Given the description of an element on the screen output the (x, y) to click on. 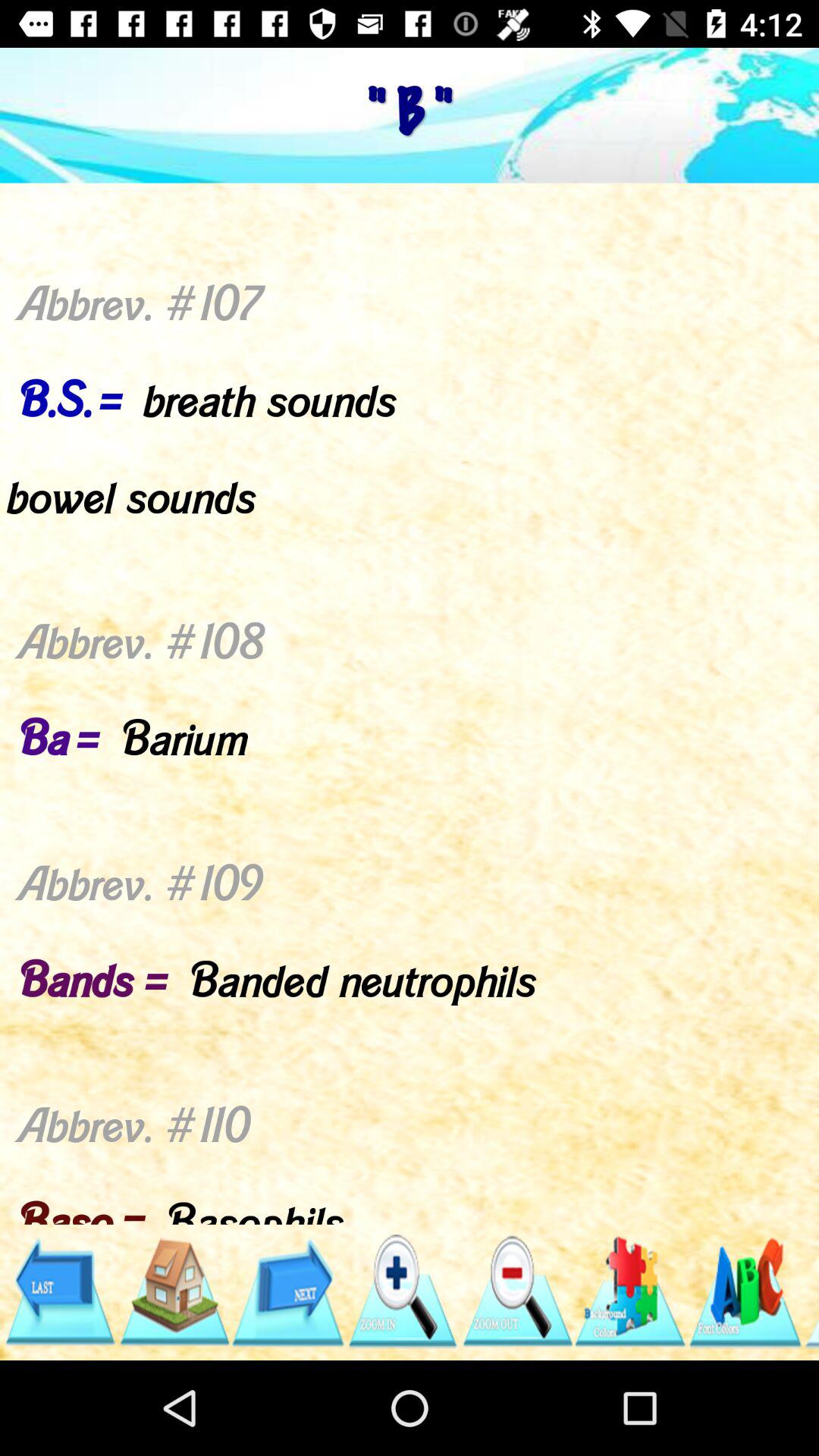
go back (59, 1291)
